Given the description of an element on the screen output the (x, y) to click on. 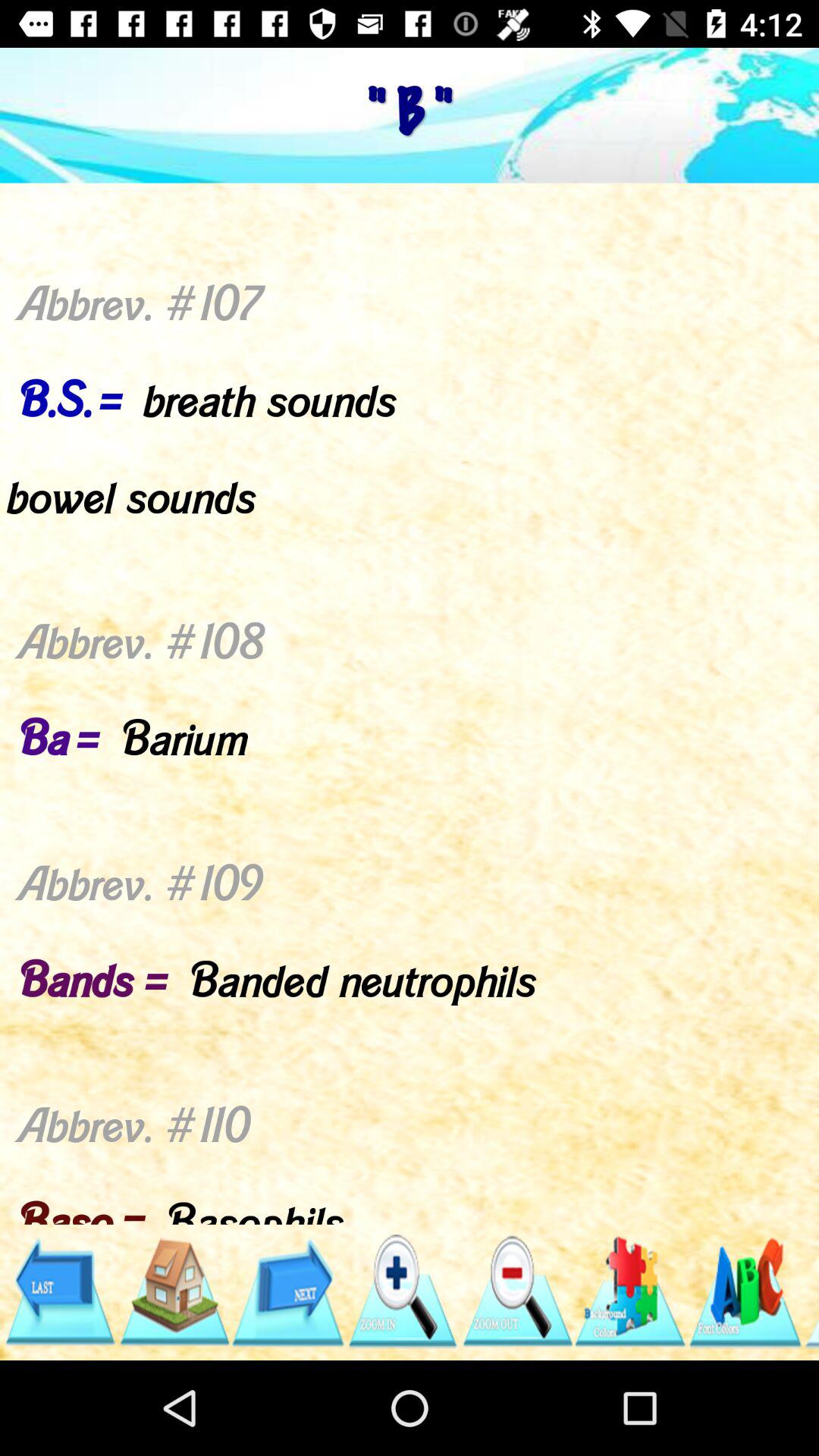
go back (59, 1291)
